Given the description of an element on the screen output the (x, y) to click on. 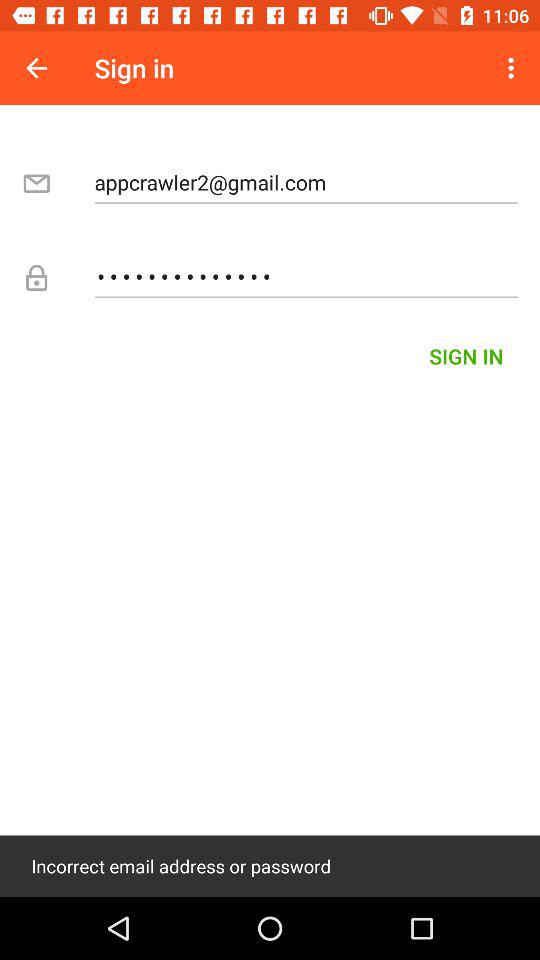
launch icon next to sign in (513, 67)
